Given the description of an element on the screen output the (x, y) to click on. 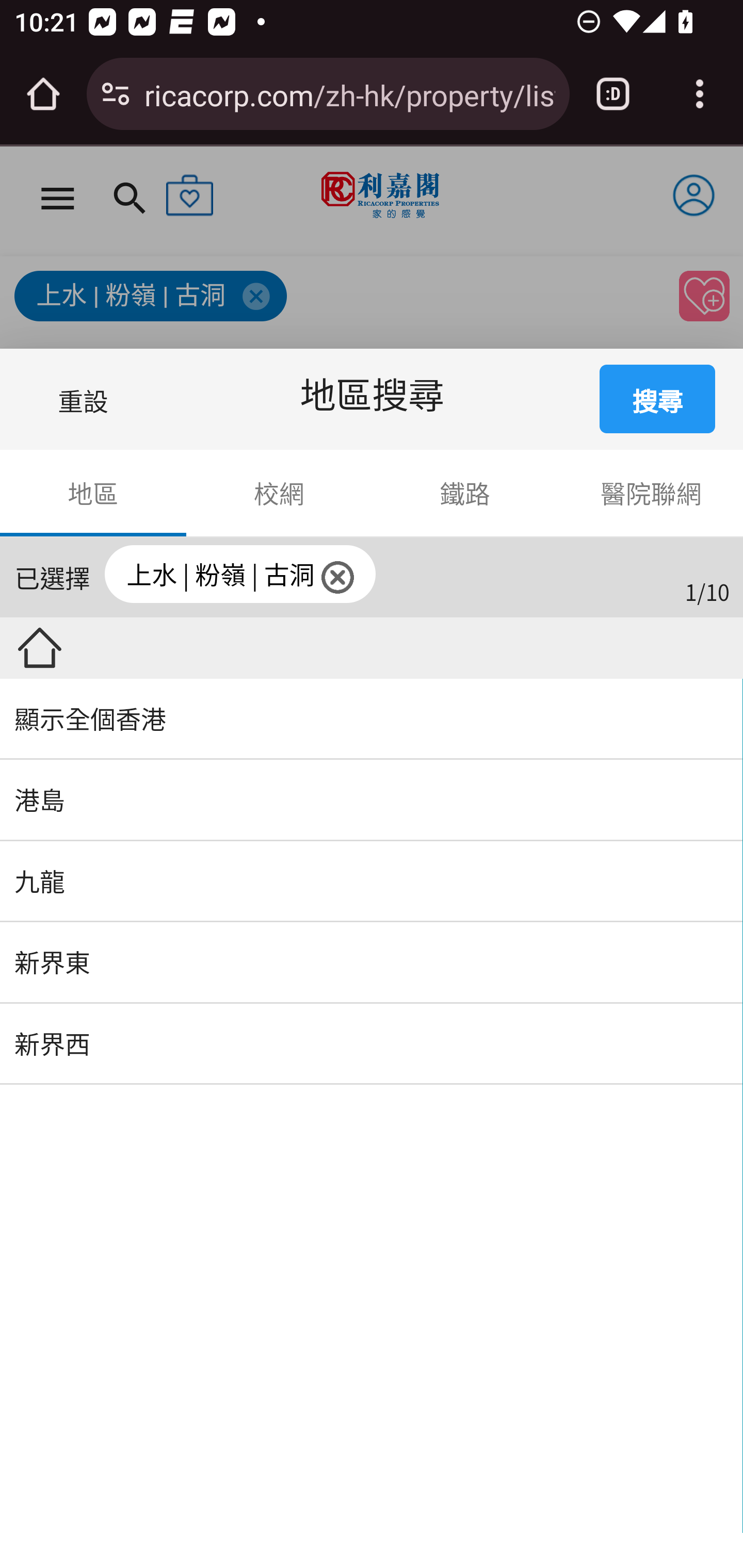
Open the home page (43, 93)
Connection is secure (115, 93)
Switch or close tabs (612, 93)
Customize and control Google Chrome (699, 93)
搜尋 (657, 398)
地區 (93, 492)
校網 (278, 492)
鐵路 (465, 492)
醫院聯網 (649, 492)
上水 | 粉嶺 | 古洞 cancel (391, 575)
居屋(未補) (80, 648)
